Given the description of an element on the screen output the (x, y) to click on. 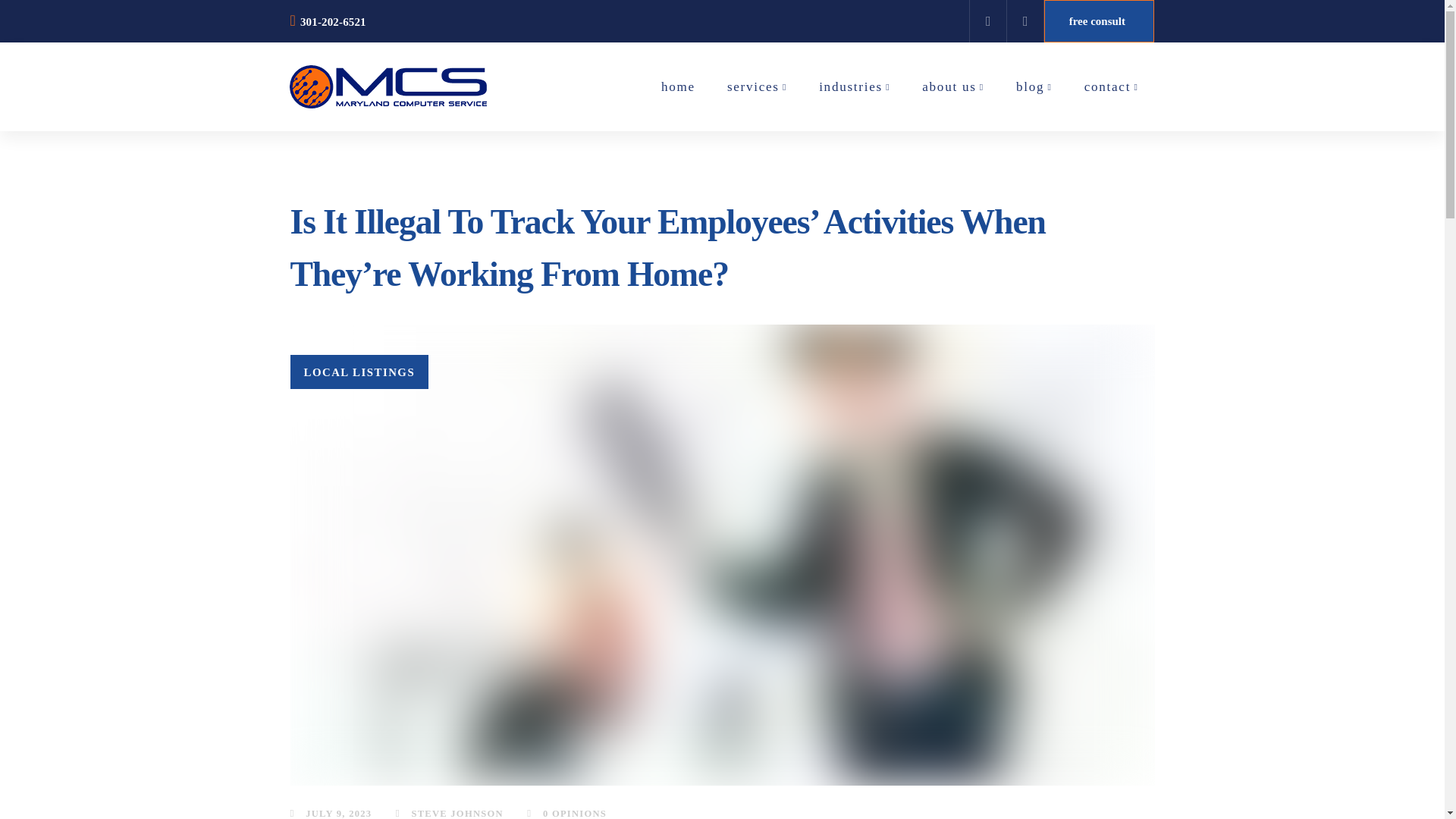
301-202-6521 (327, 20)
Posts by Steve Johnson (449, 809)
free consult (1098, 21)
industries (853, 86)
Sunday, July 9, 2023, 3:05 am (338, 813)
services (756, 86)
